Given the description of an element on the screen output the (x, y) to click on. 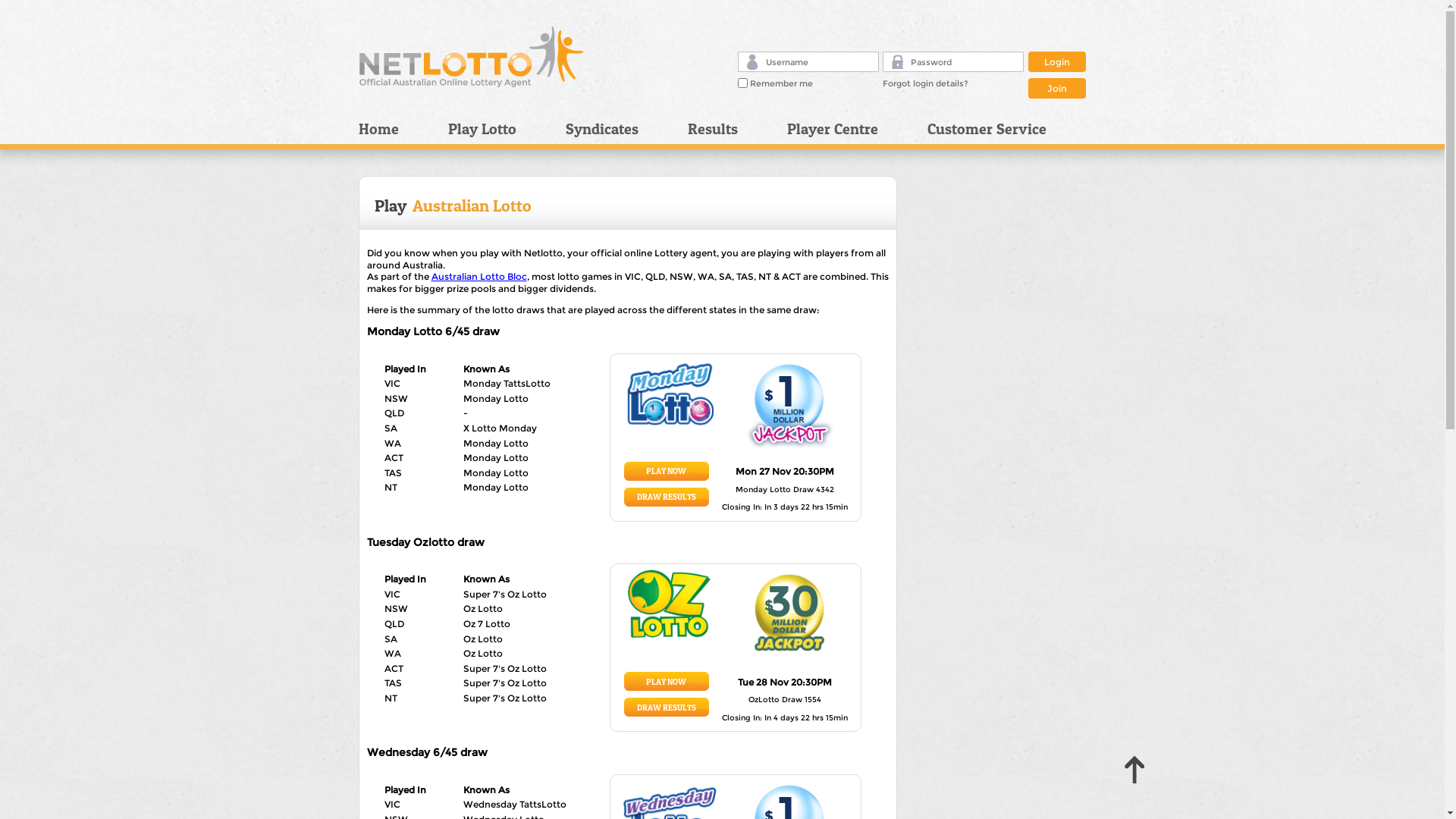
Syndicates Element type: text (614, 128)
Password Element type: hover (897, 61)
Customer Service Element type: text (981, 128)
Play Lotto Element type: text (495, 128)
Player Centre Element type: text (845, 128)
Home Element type: text (396, 128)
Join Element type: text (1056, 86)
Back to Top Element type: text (1138, 770)
Australian Lotto Bloc Element type: text (478, 276)
Email Element type: hover (751, 61)
Forgot login details? Element type: text (925, 83)
Results Element type: text (725, 128)
Login Element type: text (1056, 61)
Netlotto Element type: hover (471, 56)
